Given the description of an element on the screen output the (x, y) to click on. 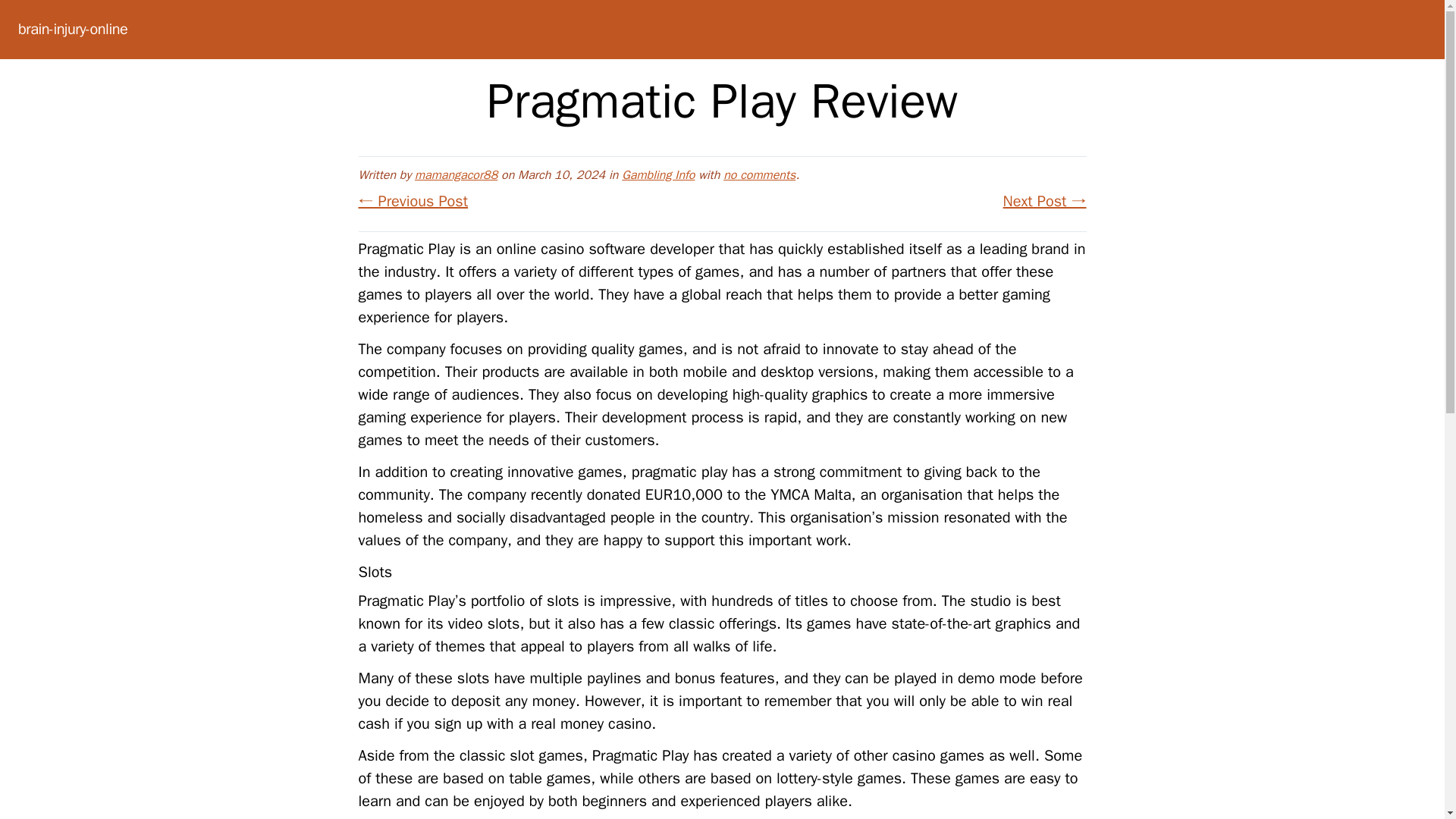
no comments (758, 174)
no comments (758, 174)
mamangacor88 (455, 174)
Gambling Info (657, 174)
brain-injury-online (72, 29)
